Given the description of an element on the screen output the (x, y) to click on. 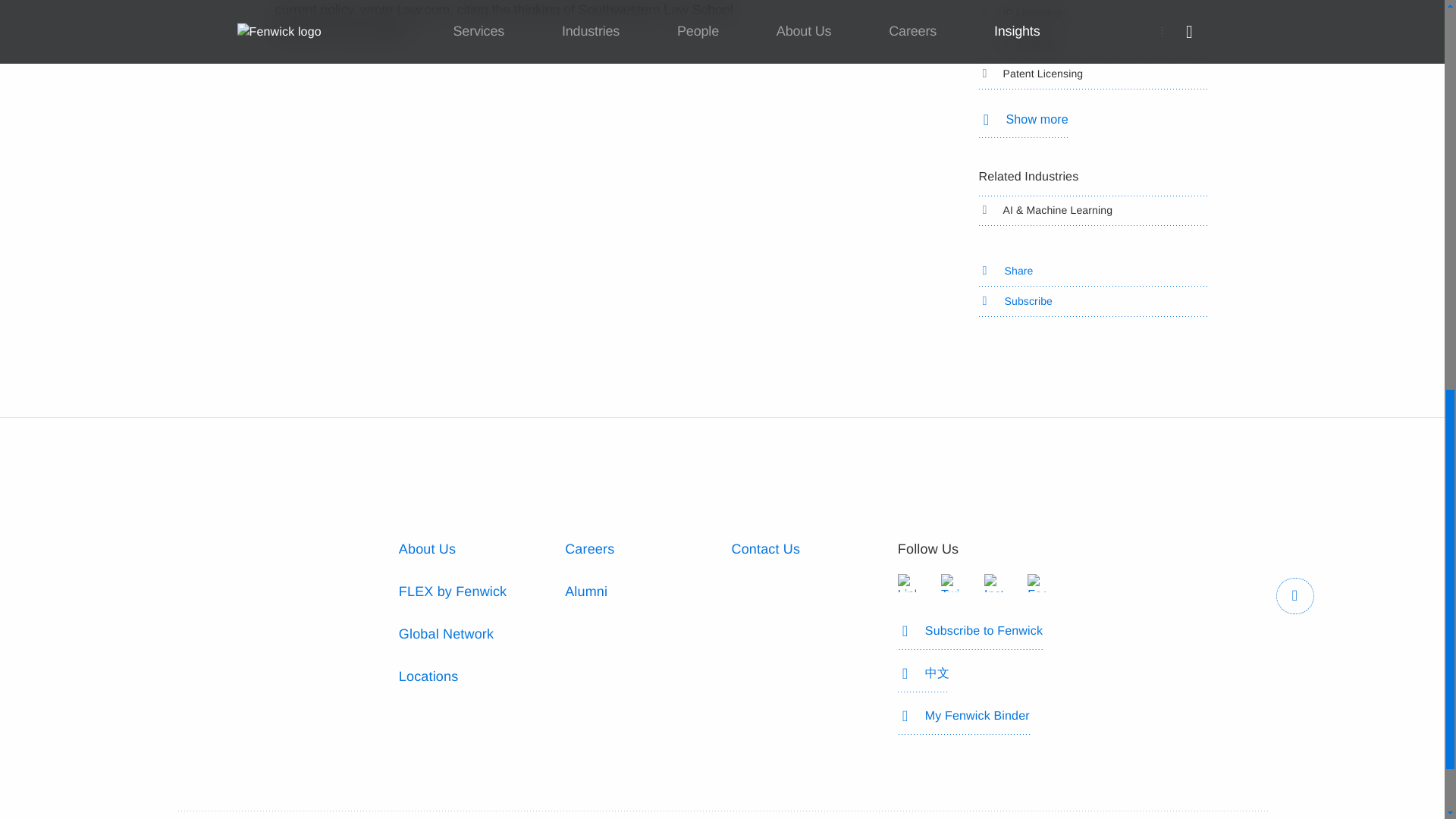
About Us (426, 548)
Contact Us (764, 548)
Locations (428, 676)
Alumni (585, 590)
Careers (589, 548)
FLEX by Fenwick (452, 590)
Global Network (445, 633)
